Given the description of an element on the screen output the (x, y) to click on. 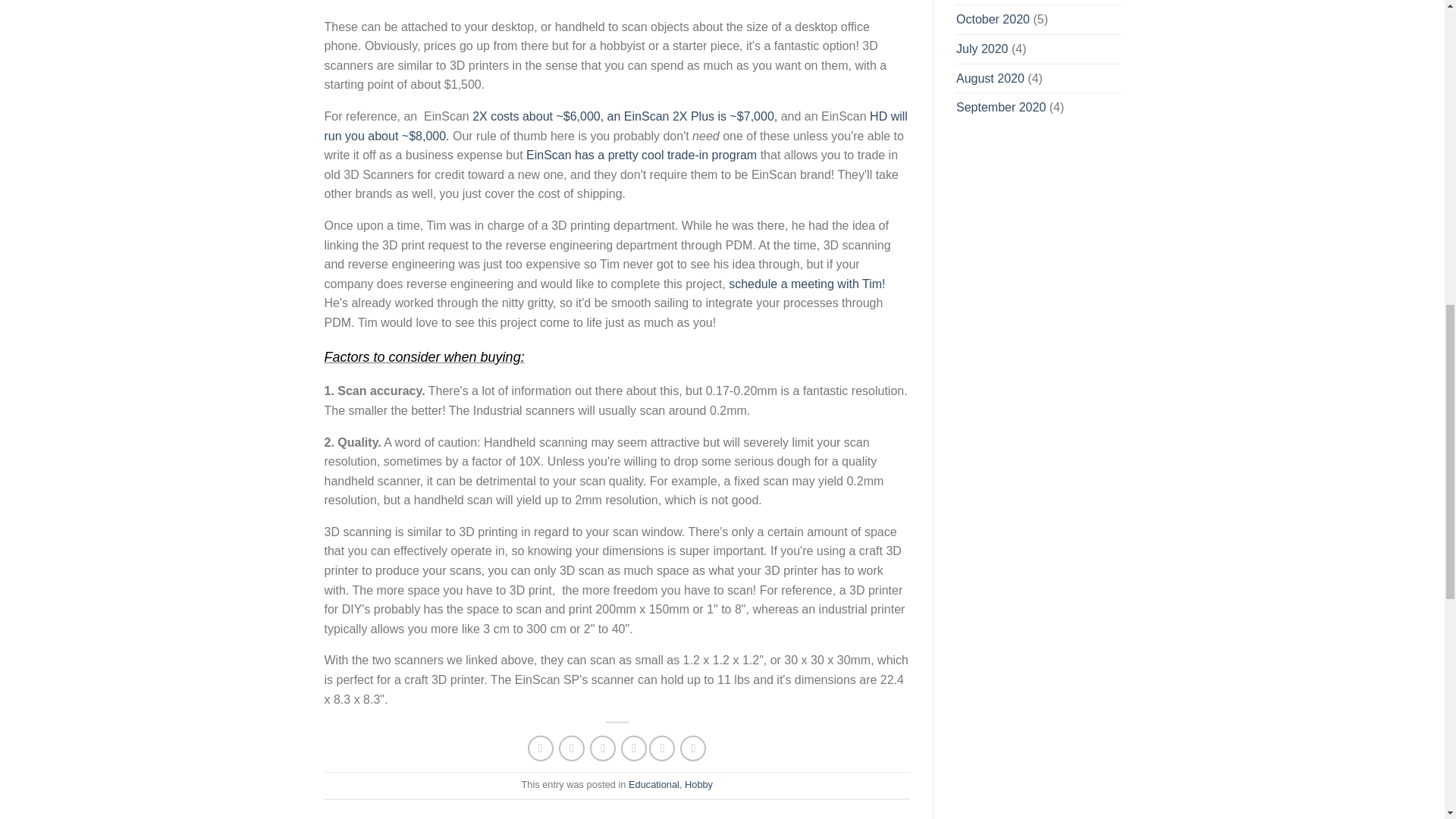
Share on Twitter (572, 748)
Pin on Pinterest (633, 748)
Email to a Friend (602, 748)
Share on Facebook (540, 748)
Share on LinkedIn (692, 748)
